Given the description of an element on the screen output the (x, y) to click on. 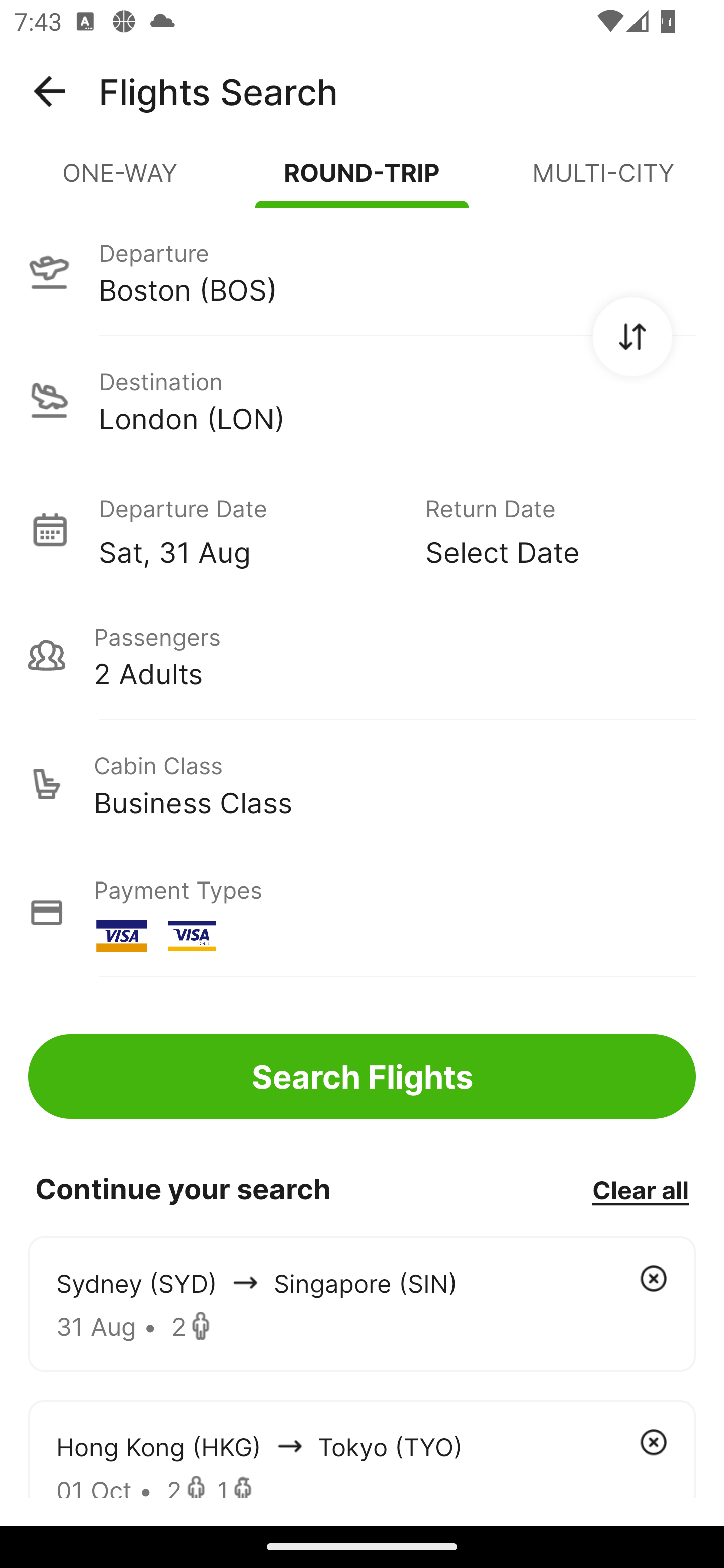
ONE-WAY (120, 180)
ROUND-TRIP (361, 180)
MULTI-CITY (603, 180)
Departure Boston (BOS) (362, 270)
Destination London (LON) (362, 400)
Departure Date Sat, 31 Aug (247, 528)
Return Date Select Date (546, 528)
Passengers 2 Adults (362, 655)
Cabin Class Business Class (362, 783)
Payment Types (362, 912)
Search Flights (361, 1075)
Clear all (640, 1189)
